Given the description of an element on the screen output the (x, y) to click on. 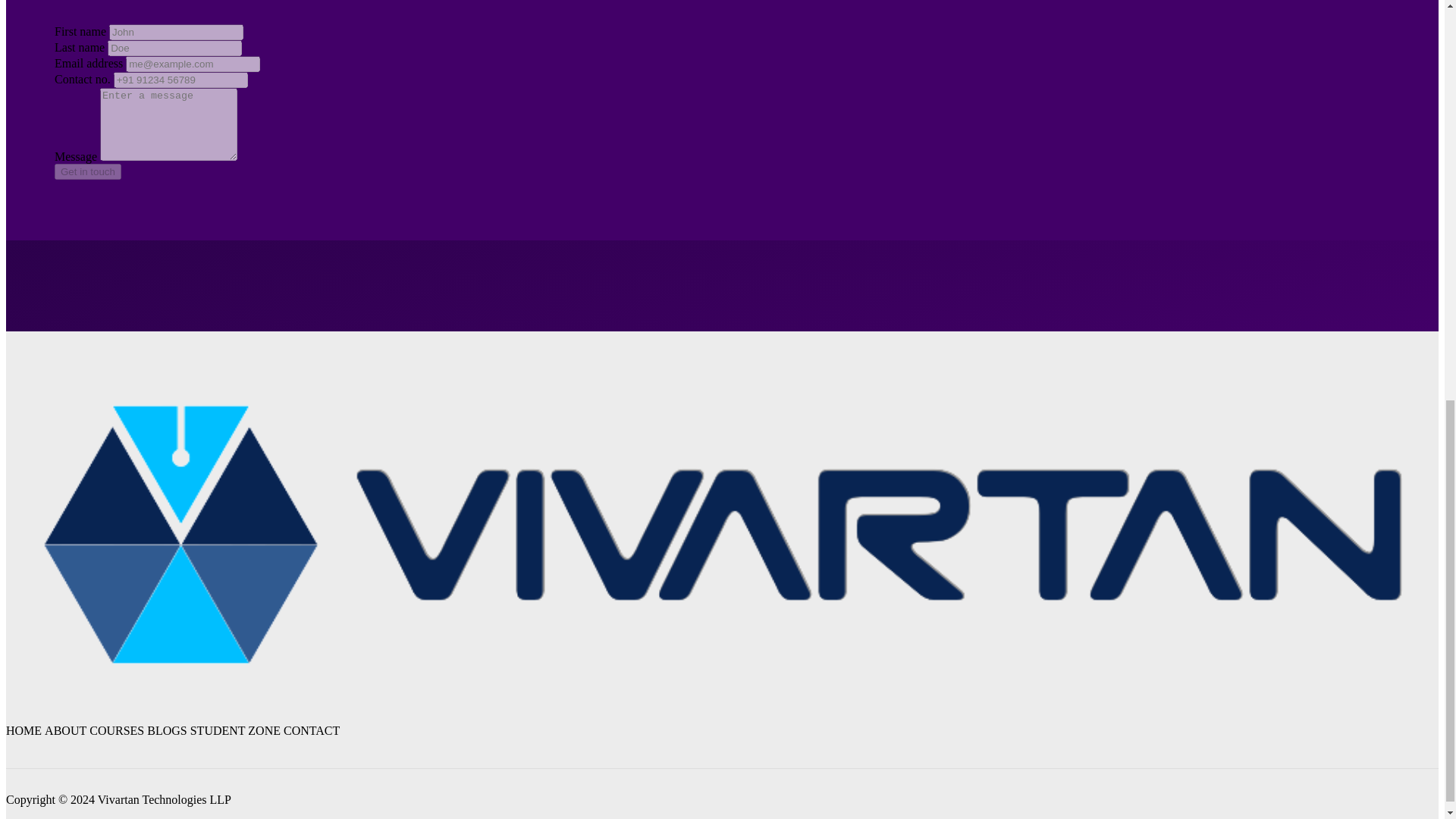
BLOGS (166, 730)
HOME (23, 730)
STUDENT ZONE (235, 730)
COURSES (116, 730)
Get in touch (87, 171)
CONTACT (311, 730)
ABOUT (65, 730)
